Given the description of an element on the screen output the (x, y) to click on. 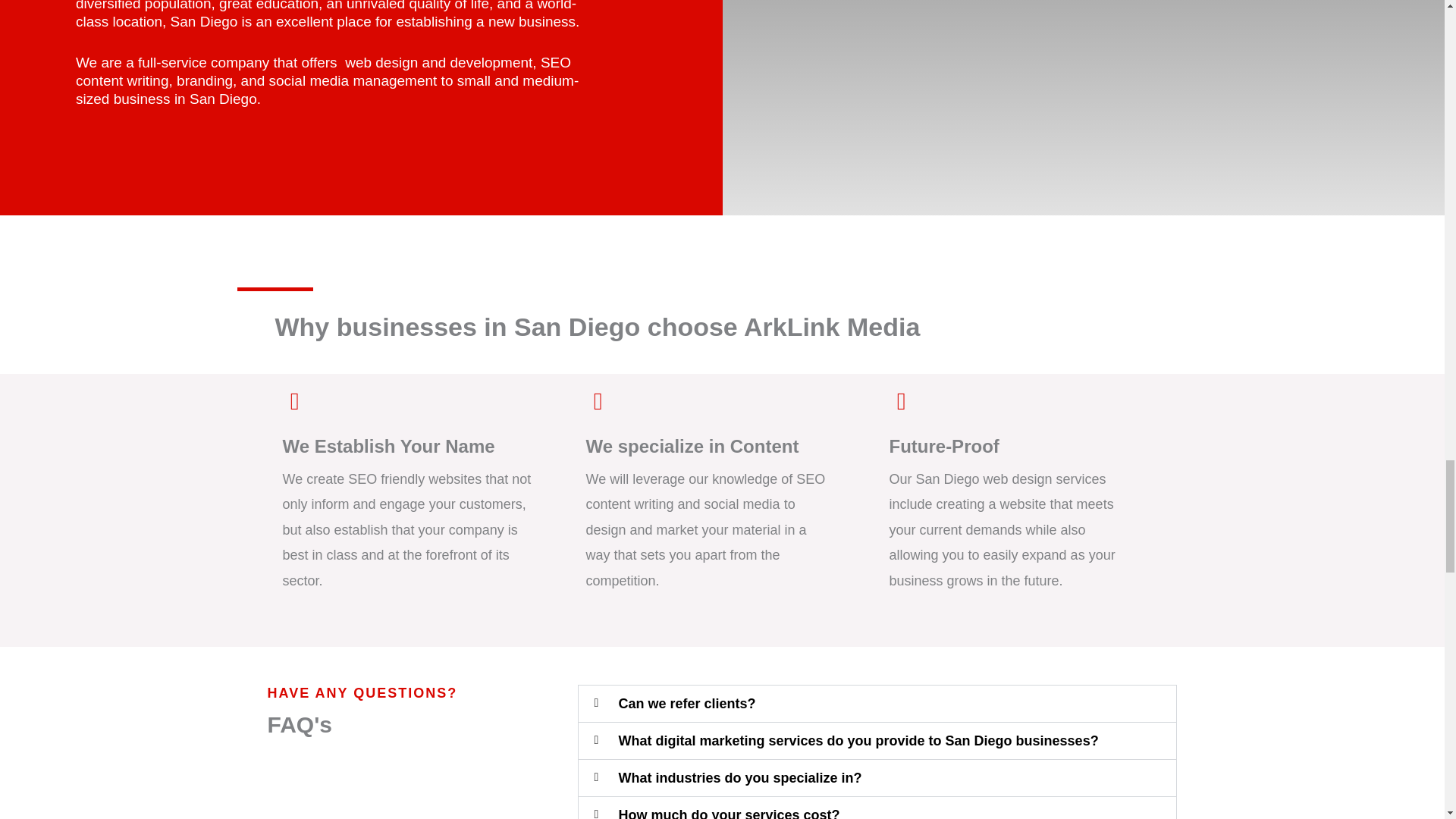
Can we refer clients? (686, 703)
